Given the description of an element on the screen output the (x, y) to click on. 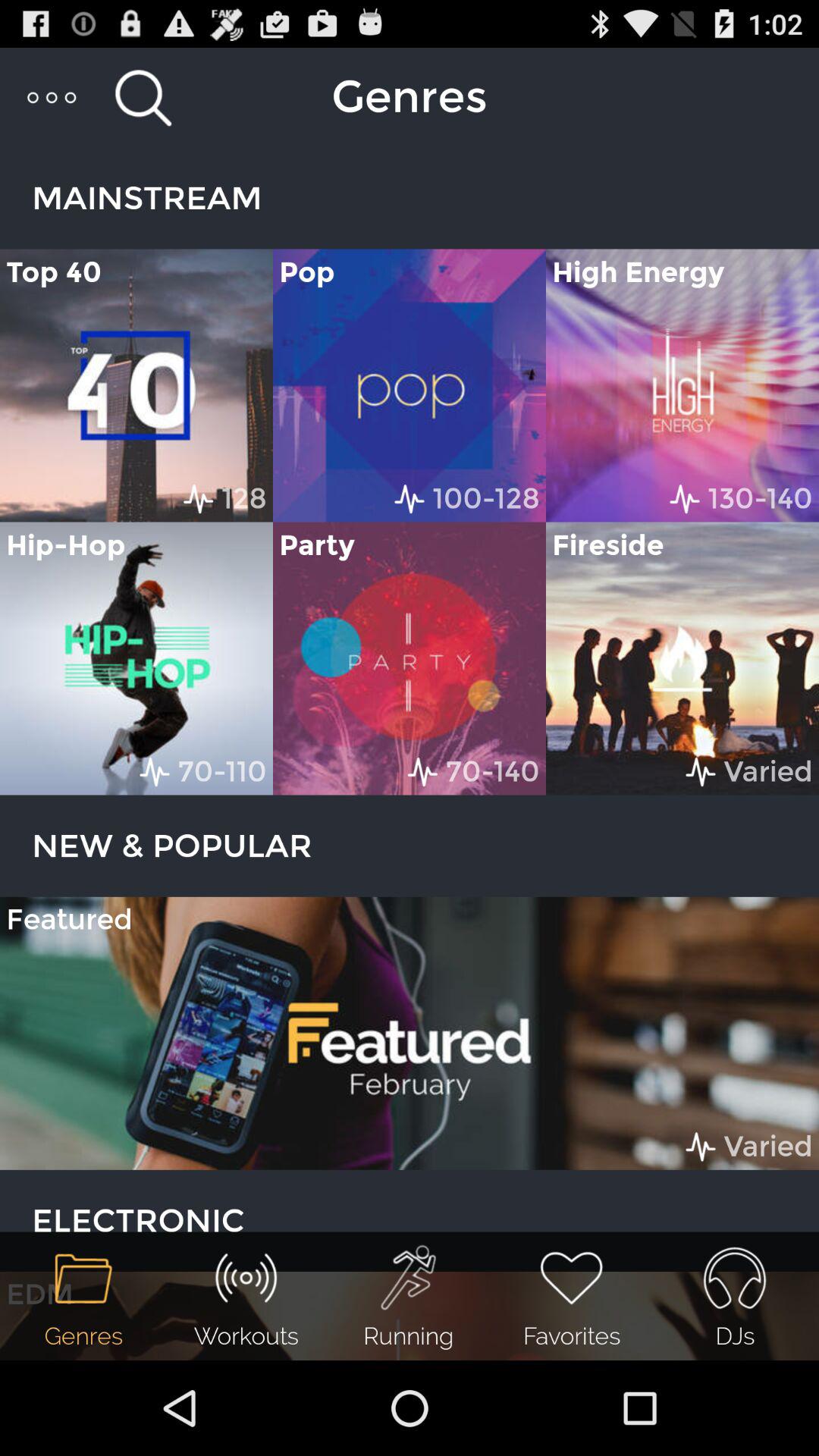
tap item above the mainstream item (142, 97)
